Given the description of an element on the screen output the (x, y) to click on. 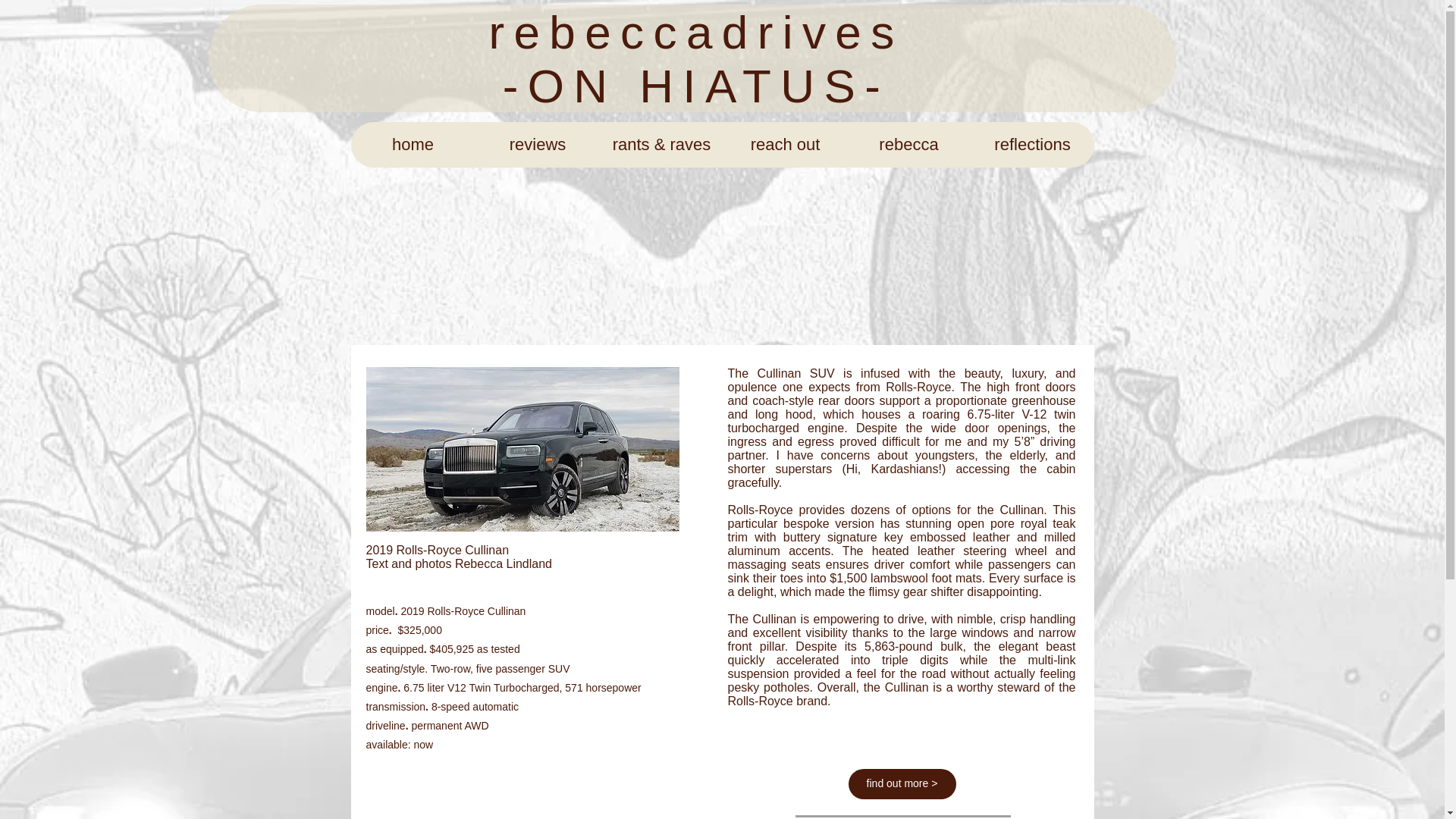
rebecca (907, 144)
reach out (785, 144)
reflections (1032, 144)
reviews (536, 144)
home (412, 144)
